Given the description of an element on the screen output the (x, y) to click on. 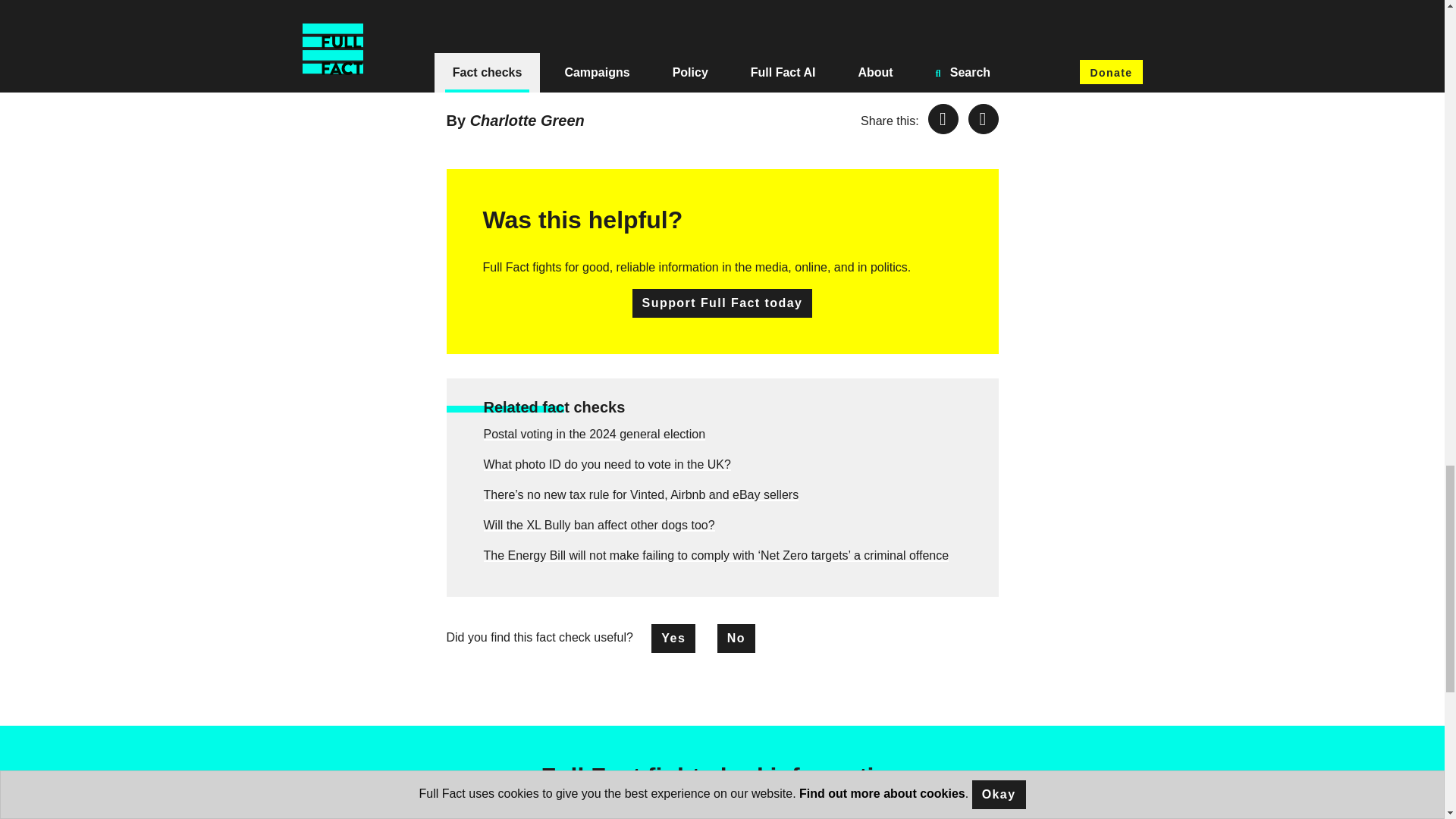
Will the XL Bully ban affect other dogs too? (598, 524)
Postal voting in the 2024 general election (594, 433)
What photo ID do you need to vote in the UK? (606, 463)
